Given the description of an element on the screen output the (x, y) to click on. 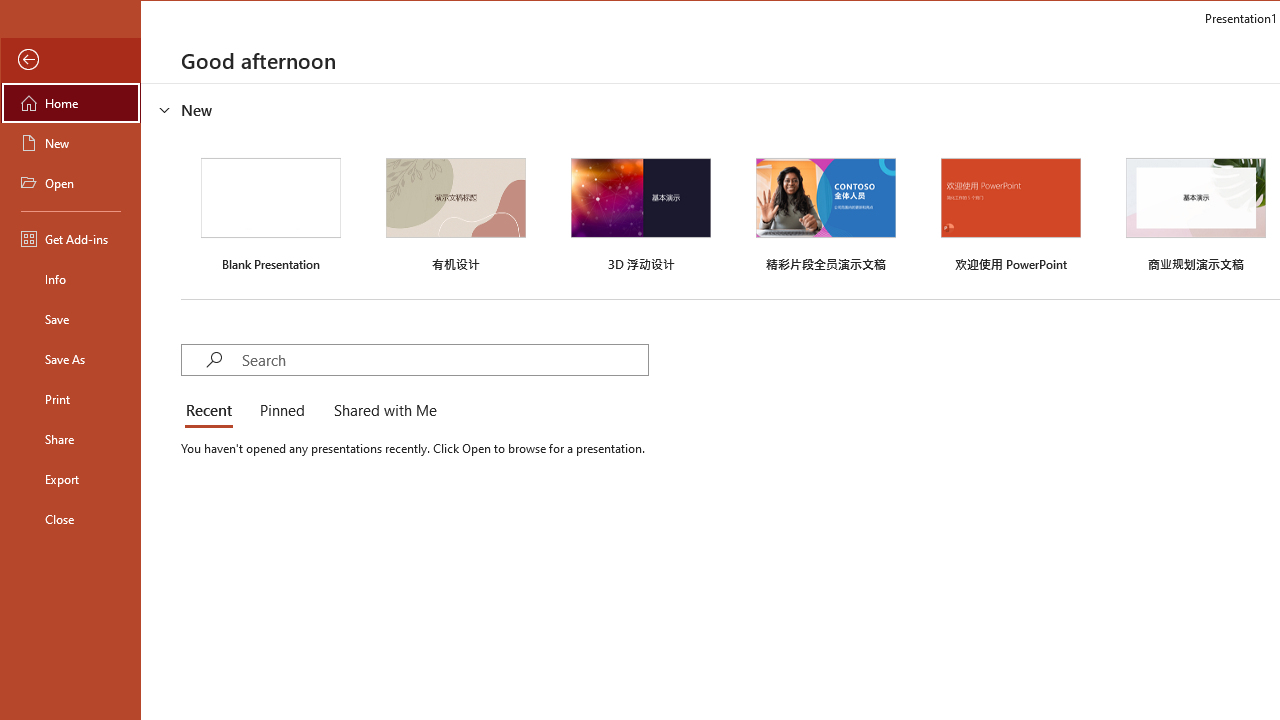
Pinned (281, 411)
Get Add-ins (70, 238)
Info (70, 278)
Search (444, 359)
Shared with Me (381, 411)
Recent (212, 411)
Save As (70, 358)
Print (70, 398)
New (70, 142)
